Given the description of an element on the screen output the (x, y) to click on. 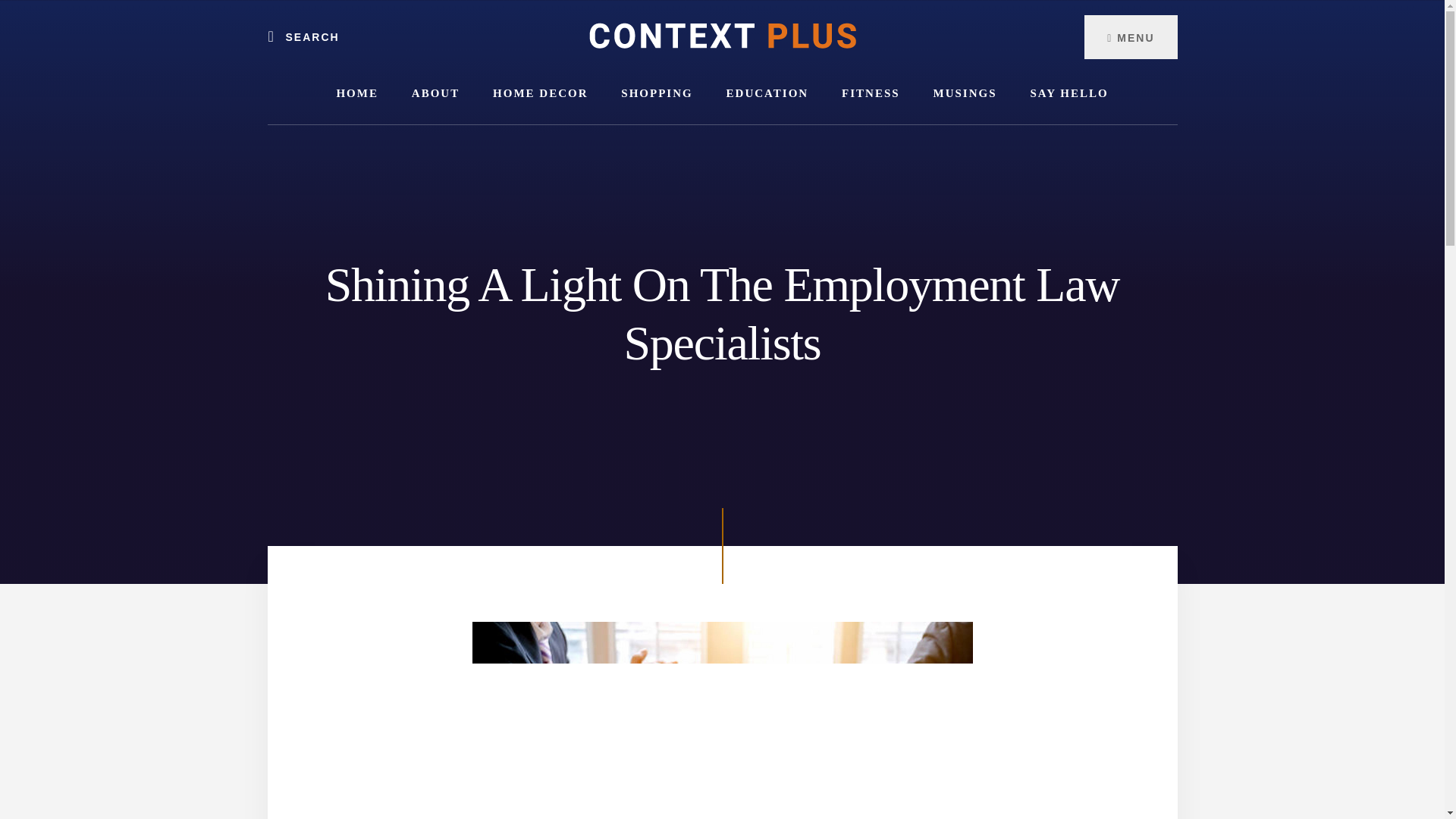
HOME (356, 93)
MENU (1130, 36)
FITNESS (871, 93)
HOME DECOR (539, 93)
MUSINGS (964, 93)
SHOPPING (656, 93)
SAY HELLO (1068, 93)
EDUCATION (767, 93)
ABOUT (435, 93)
